Given the description of an element on the screen output the (x, y) to click on. 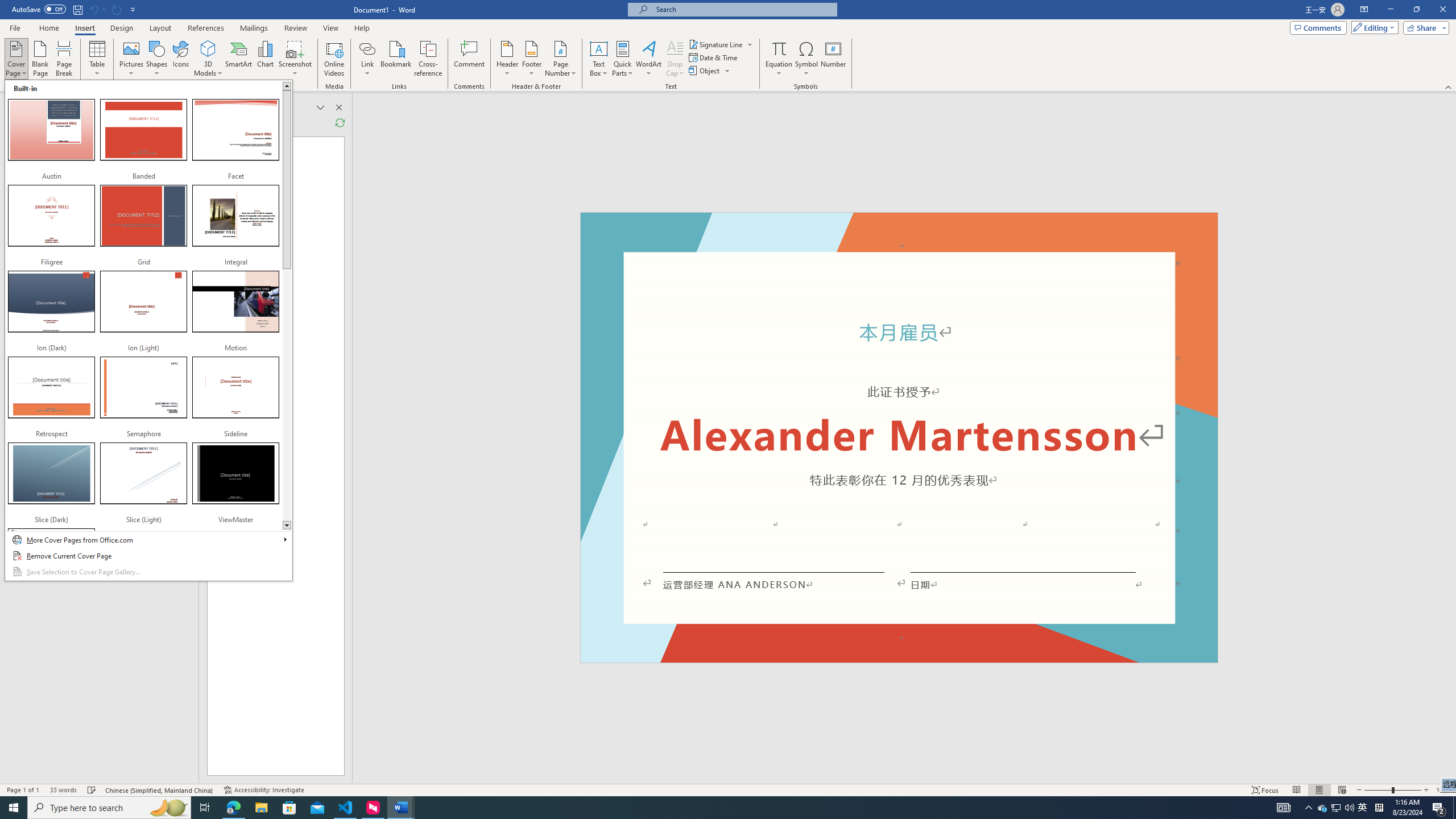
Number... (833, 58)
Notification Chevron (1308, 807)
Refresh Reviewing Pane (339, 122)
Drop Cap (674, 58)
Tray Input Indicator - Chinese (Simplified, China) (1378, 807)
SmartArt... (238, 58)
Footer (531, 58)
3D Models (208, 48)
